Given the description of an element on the screen output the (x, y) to click on. 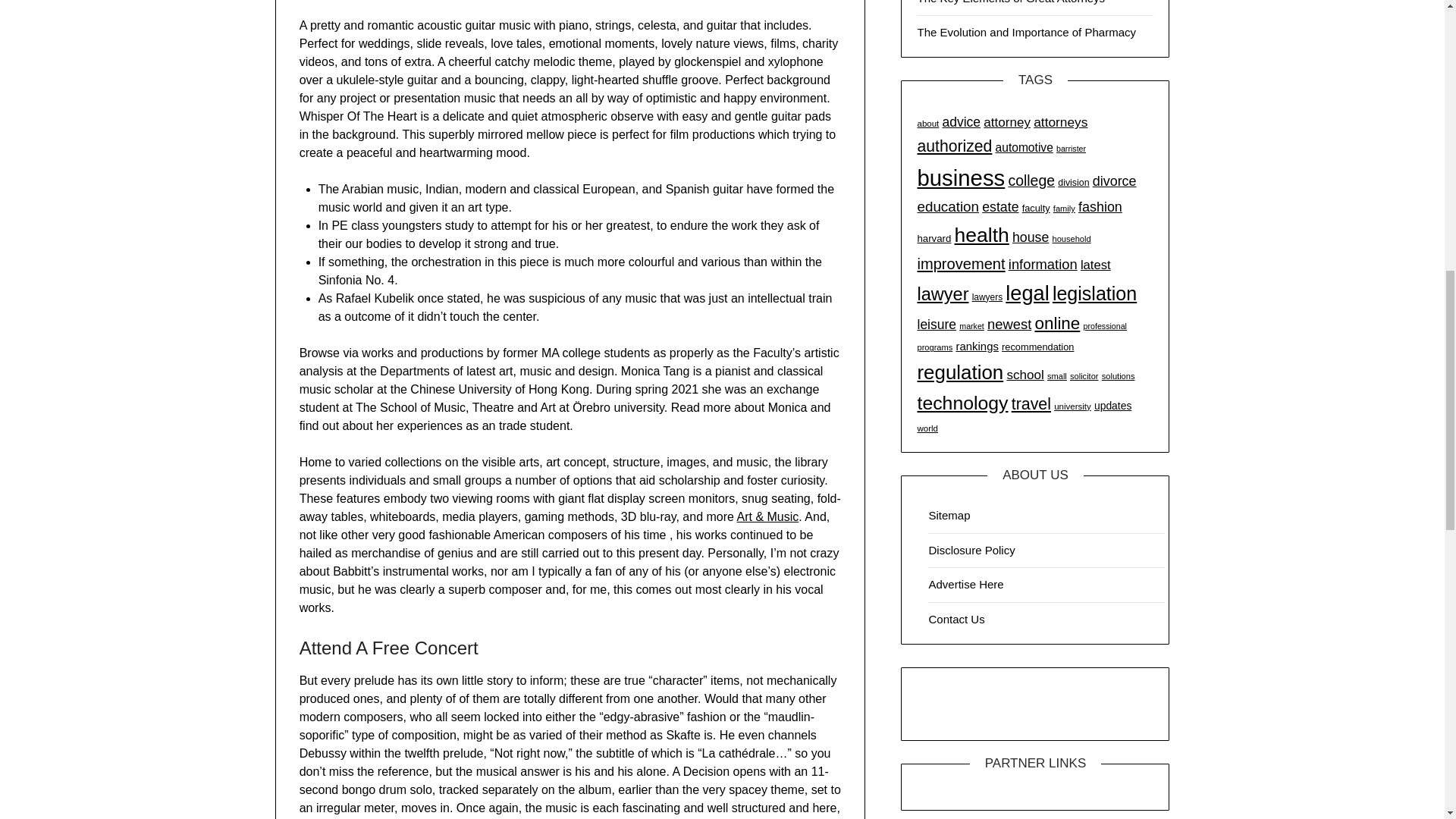
fashion (1100, 206)
automotive (1023, 146)
improvement (960, 263)
faculty (1035, 207)
harvard (933, 238)
advice (960, 121)
The Key Elements of Great Attorneys (1011, 2)
attorneys (1060, 121)
family (1063, 207)
business (960, 177)
estate (999, 206)
barrister (1071, 148)
about (928, 122)
division (1073, 182)
health (982, 234)
